Given the description of an element on the screen output the (x, y) to click on. 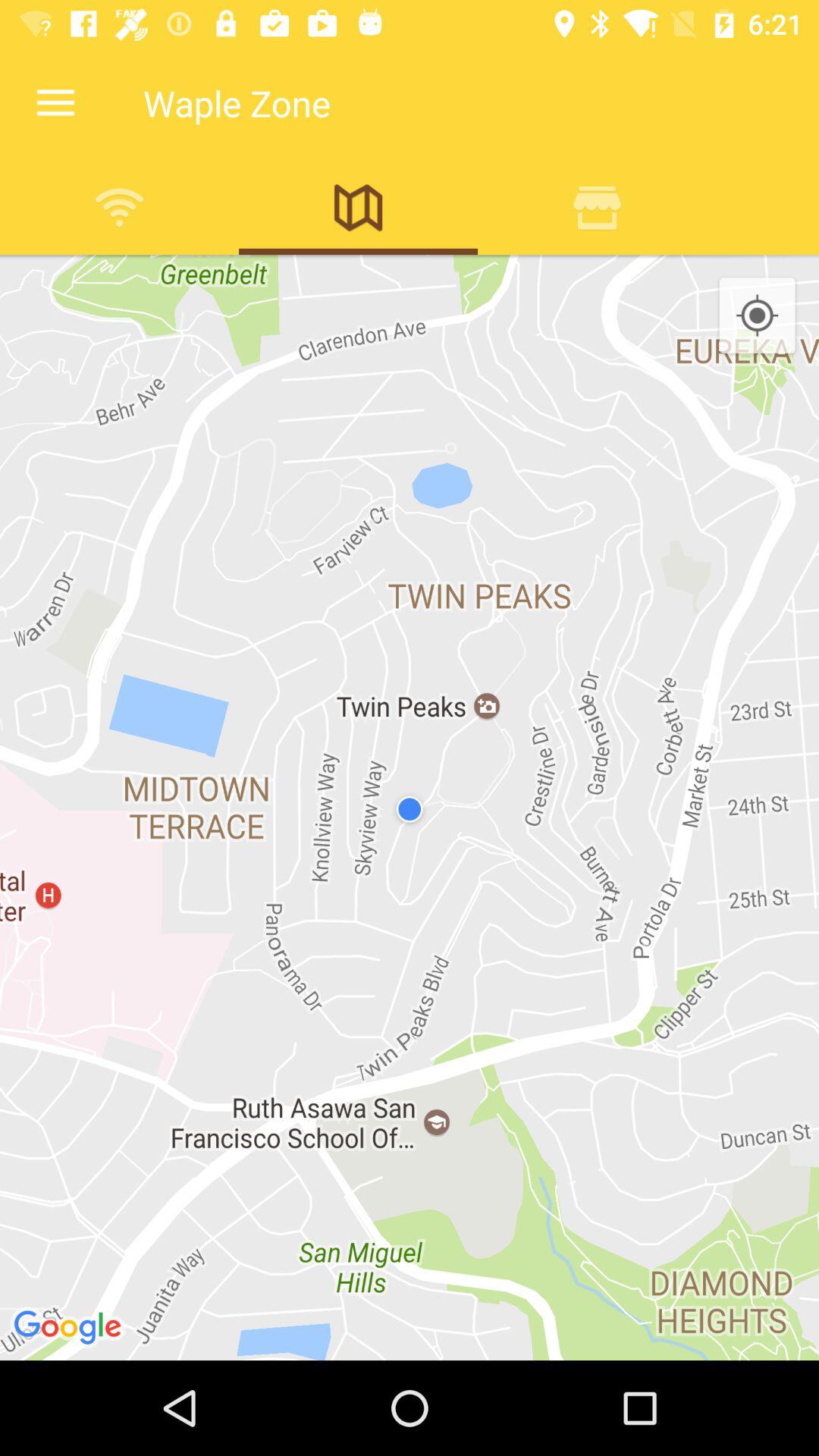
wifi (119, 206)
